Given the description of an element on the screen output the (x, y) to click on. 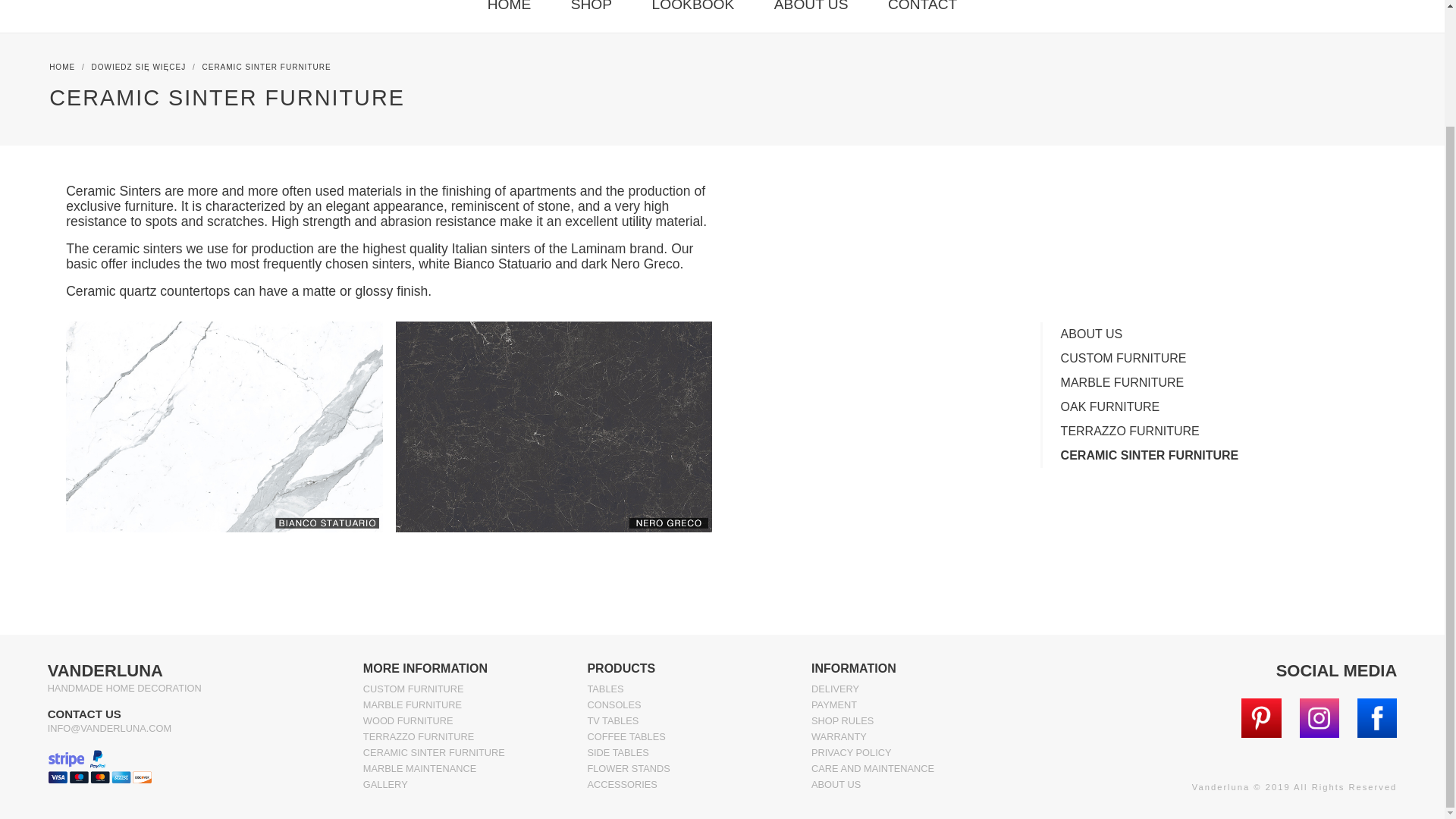
HOME (509, 6)
ABOUT US (810, 6)
CONTACT (922, 6)
SHOP (591, 6)
LOOKBOOK (692, 6)
